Given the description of an element on the screen output the (x, y) to click on. 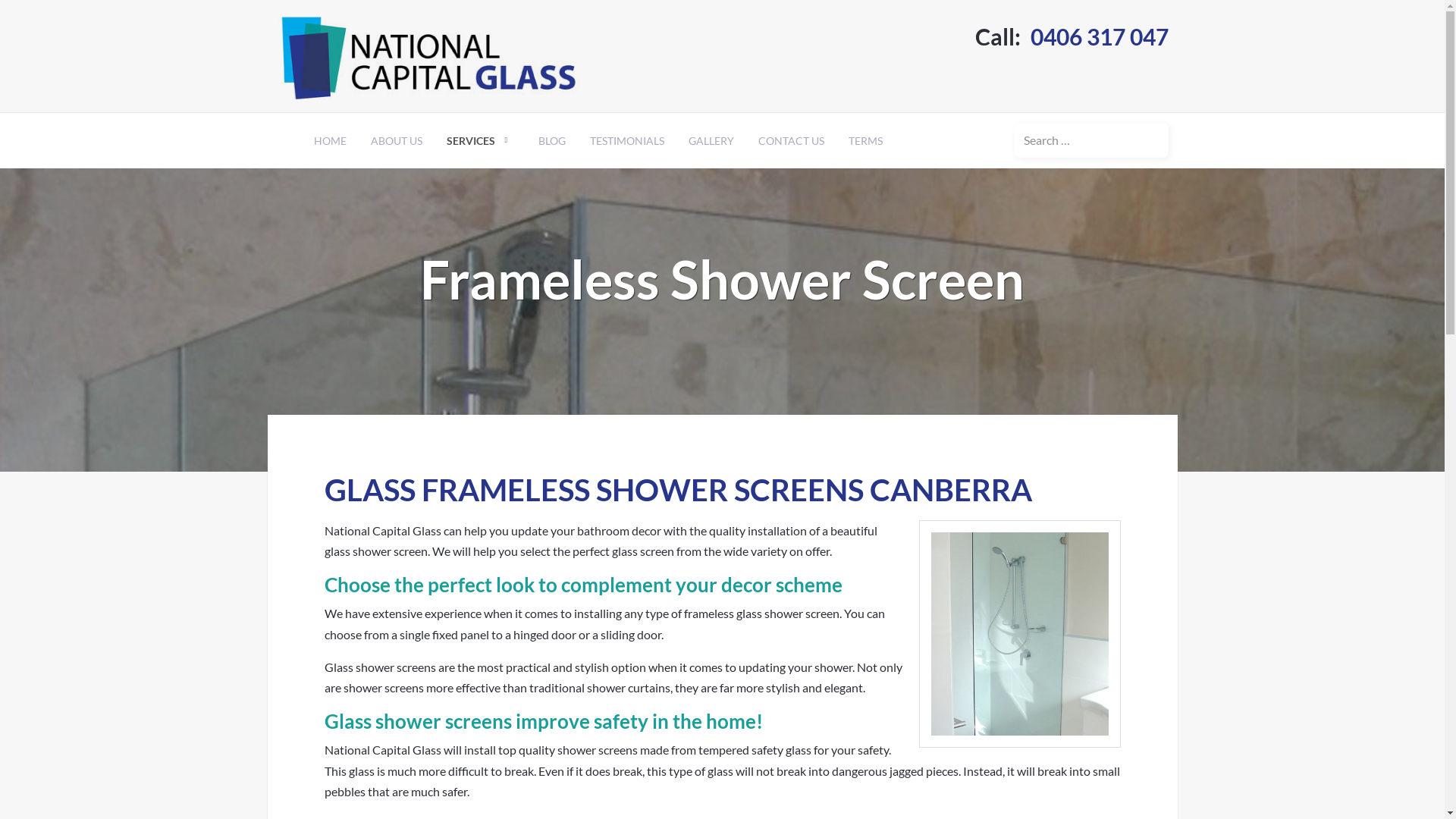
TESTIMONIALS Element type: text (626, 140)
TERMS Element type: text (864, 140)
GALLERY Element type: text (711, 140)
SERVICES Element type: text (479, 140)
HOME Element type: text (329, 140)
BLOG Element type: text (551, 140)
ABOUT US Element type: text (395, 140)
CONTACT US Element type: text (791, 140)
